Given the description of an element on the screen output the (x, y) to click on. 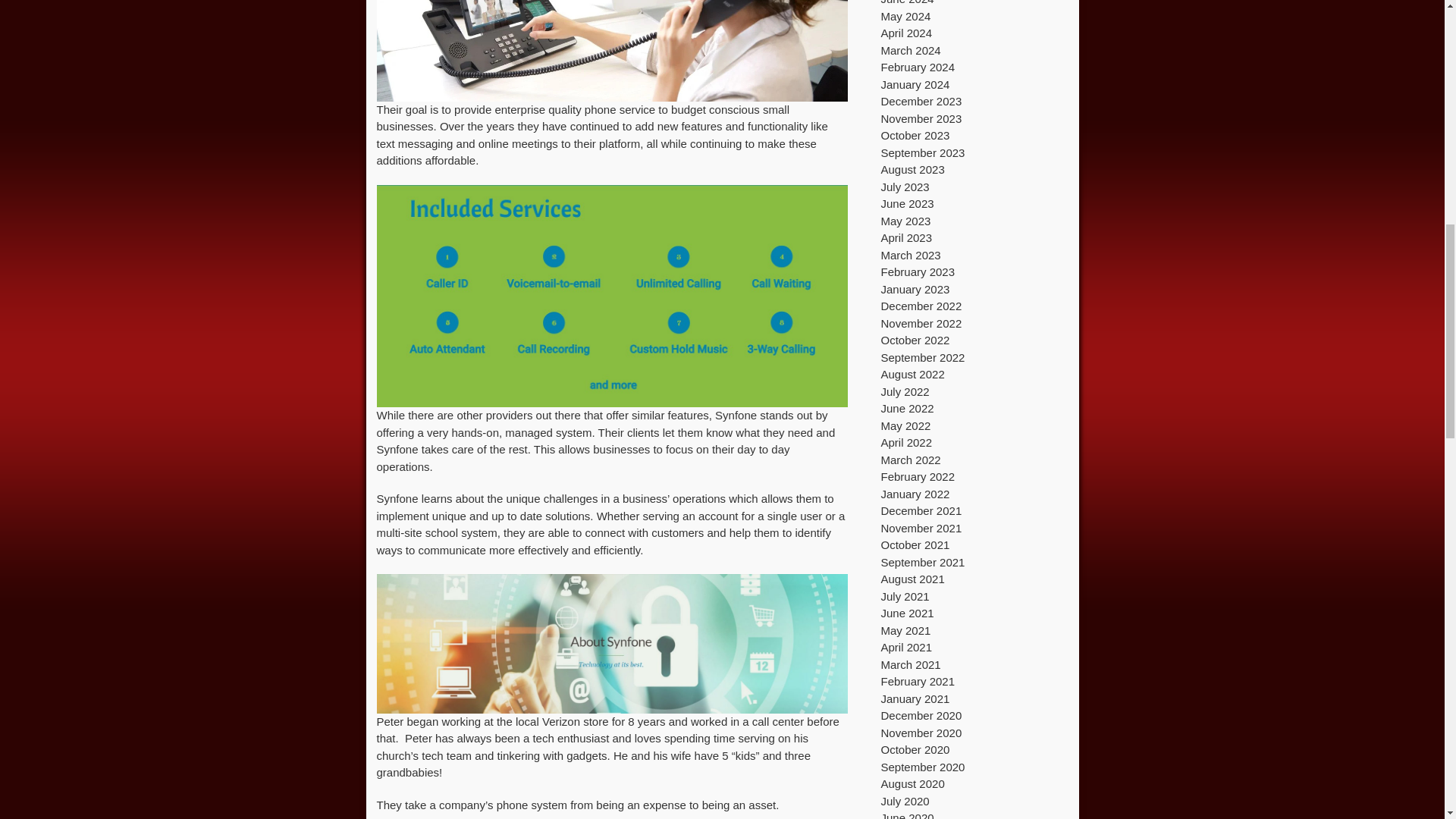
July 2023 (905, 186)
April 2024 (906, 32)
November 2023 (921, 118)
December 2023 (921, 101)
January 2024 (915, 83)
March 2024 (910, 50)
October 2023 (915, 134)
May 2024 (905, 15)
September 2023 (922, 151)
June 2024 (907, 2)
June 2023 (907, 203)
May 2023 (905, 219)
February 2024 (917, 66)
August 2023 (912, 169)
